Given the description of an element on the screen output the (x, y) to click on. 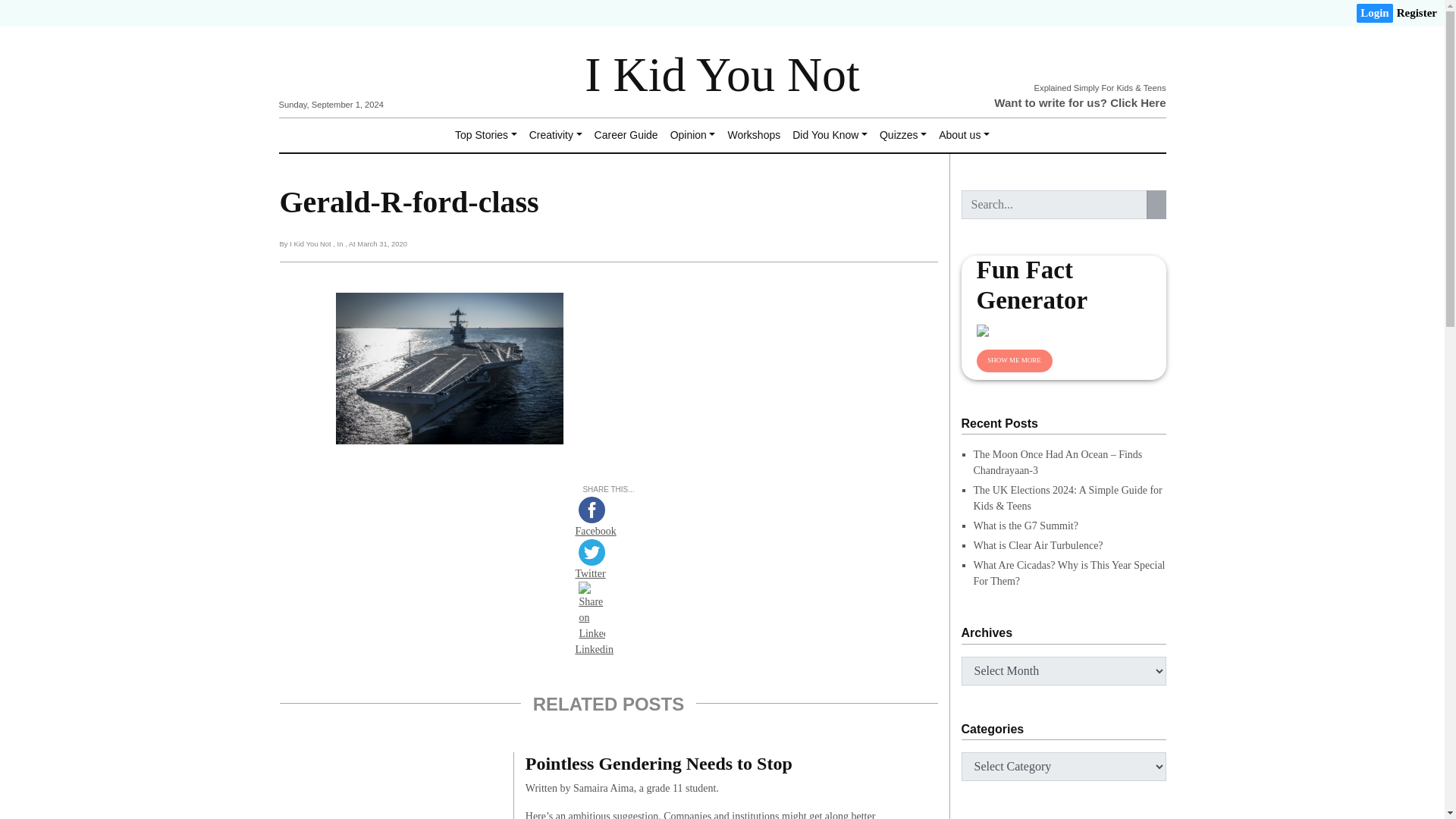
Creativity (555, 135)
Career Guide (625, 135)
Did You Know (829, 135)
I Kid You Not (722, 74)
Login (1374, 13)
Quizzes (903, 135)
Top Stories (485, 135)
Workshops (753, 135)
Register (1417, 13)
Opinion (692, 135)
